Given the description of an element on the screen output the (x, y) to click on. 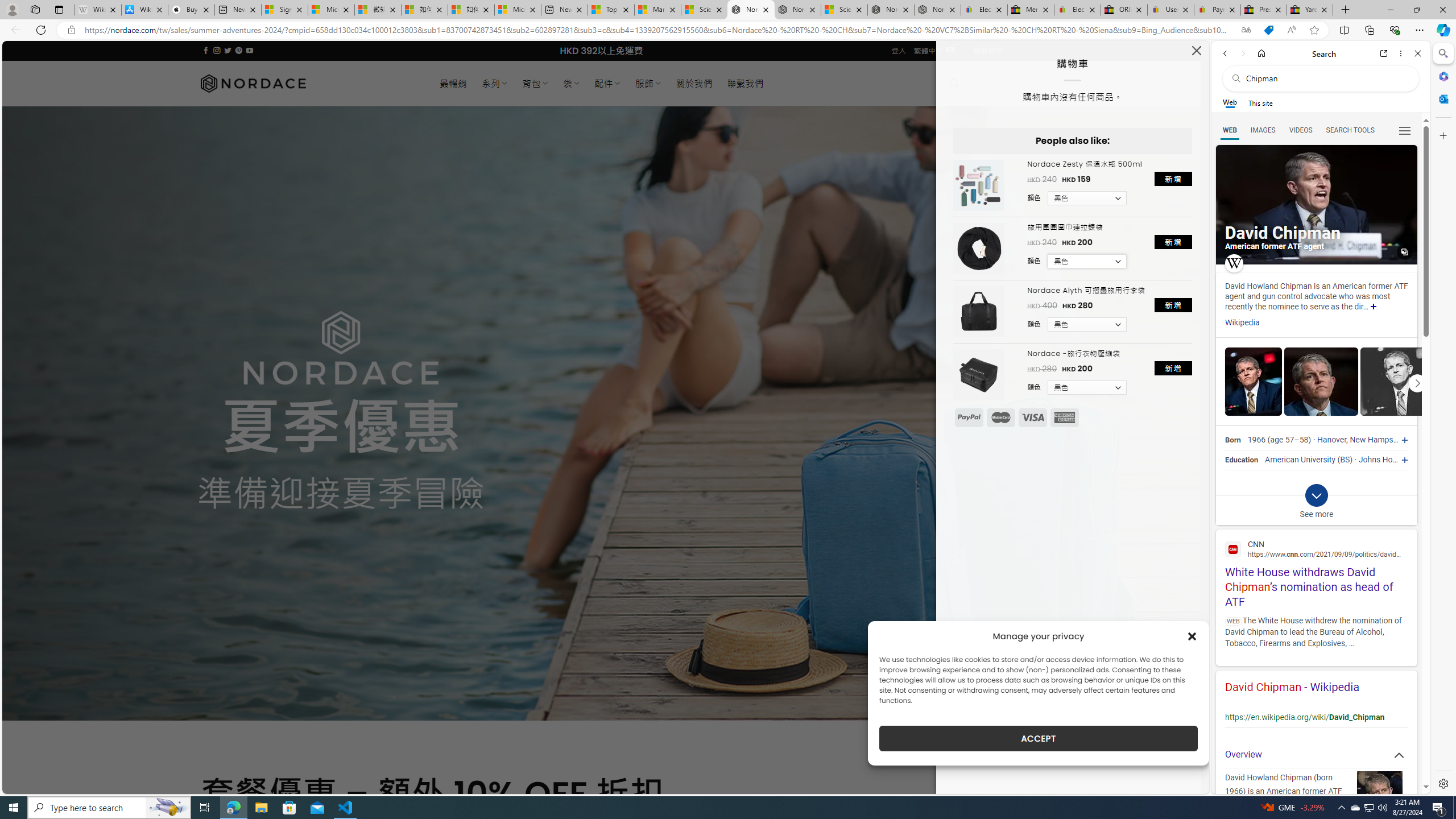
Show more (1373, 307)
Yard, Garden & Outdoor Living (1309, 9)
Nordace - Summer Adventures 2024 (890, 9)
Class: b_exp_chevron_svg b_expmob_chev (1315, 495)
Search Filter, Search Tools (1350, 129)
Follow on Pinterest (237, 50)
Press Room - eBay Inc. (1263, 9)
  0   (992, 83)
WEB   (1230, 130)
